Given the description of an element on the screen output the (x, y) to click on. 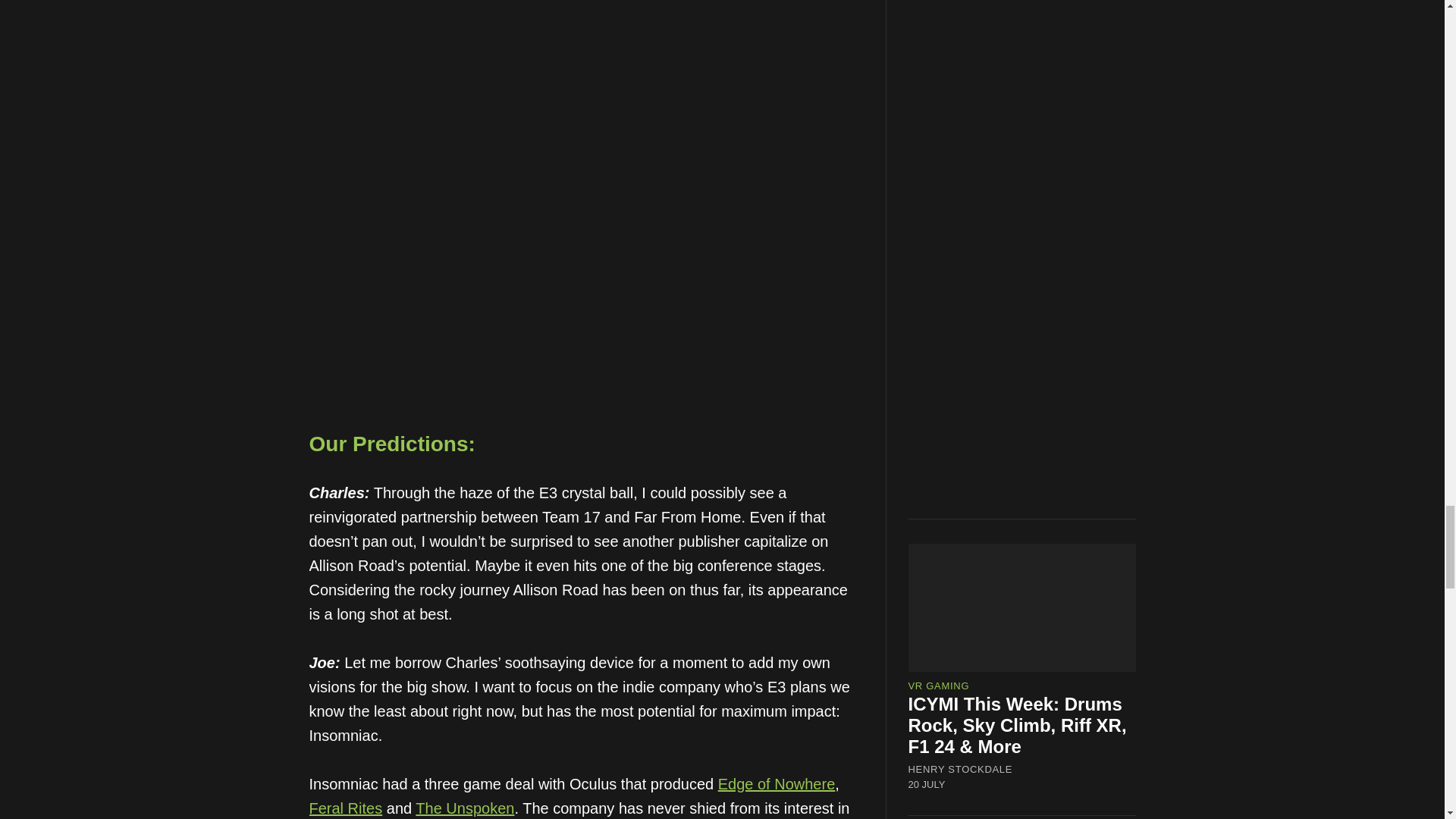
Feral Rites (345, 808)
The Unspoken (463, 808)
Edge of Nowhere (776, 783)
